Given the description of an element on the screen output the (x, y) to click on. 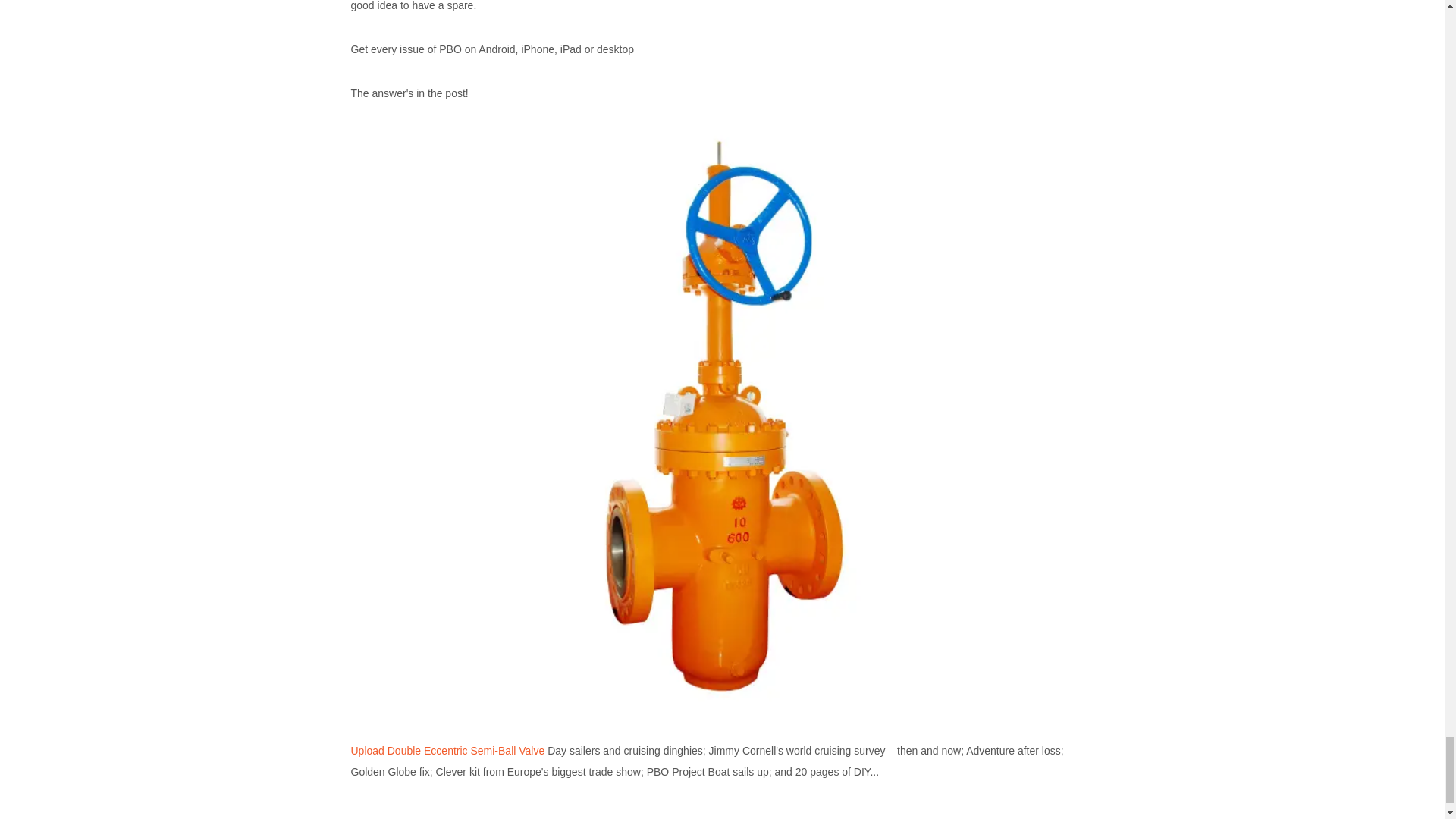
Upload Double Eccentric Semi-Ball Valve (447, 750)
